Given the description of an element on the screen output the (x, y) to click on. 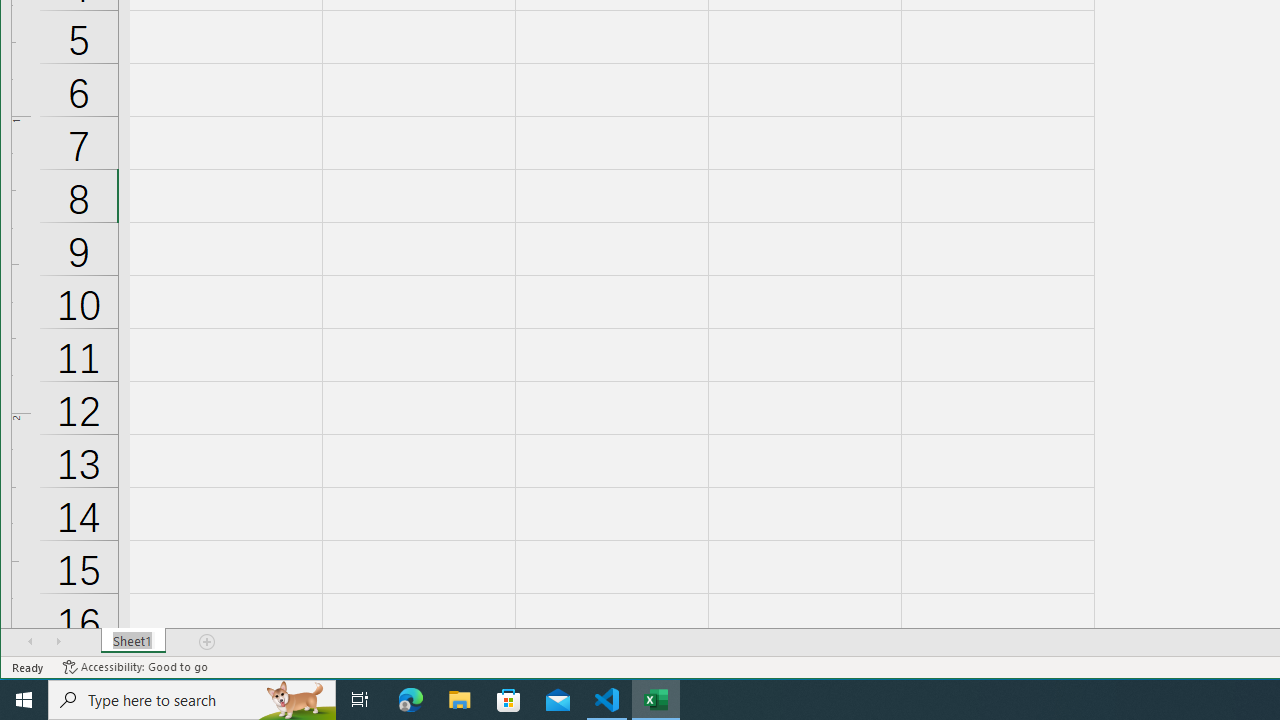
Excel - 1 running window (656, 699)
Sheet Tab (133, 641)
